Given the description of an element on the screen output the (x, y) to click on. 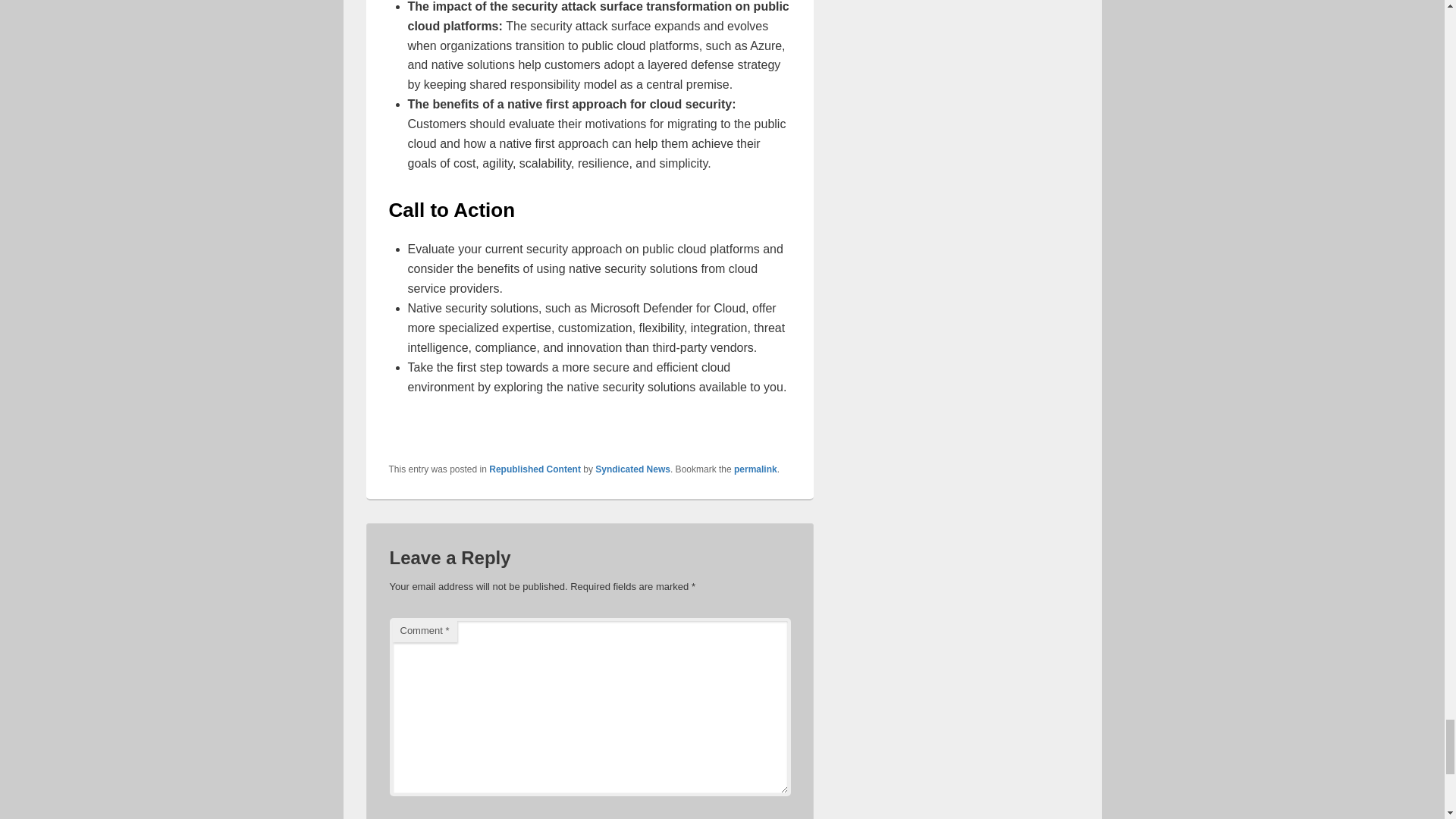
Permalink to Native-first cloud security approach (755, 469)
